Given the description of an element on the screen output the (x, y) to click on. 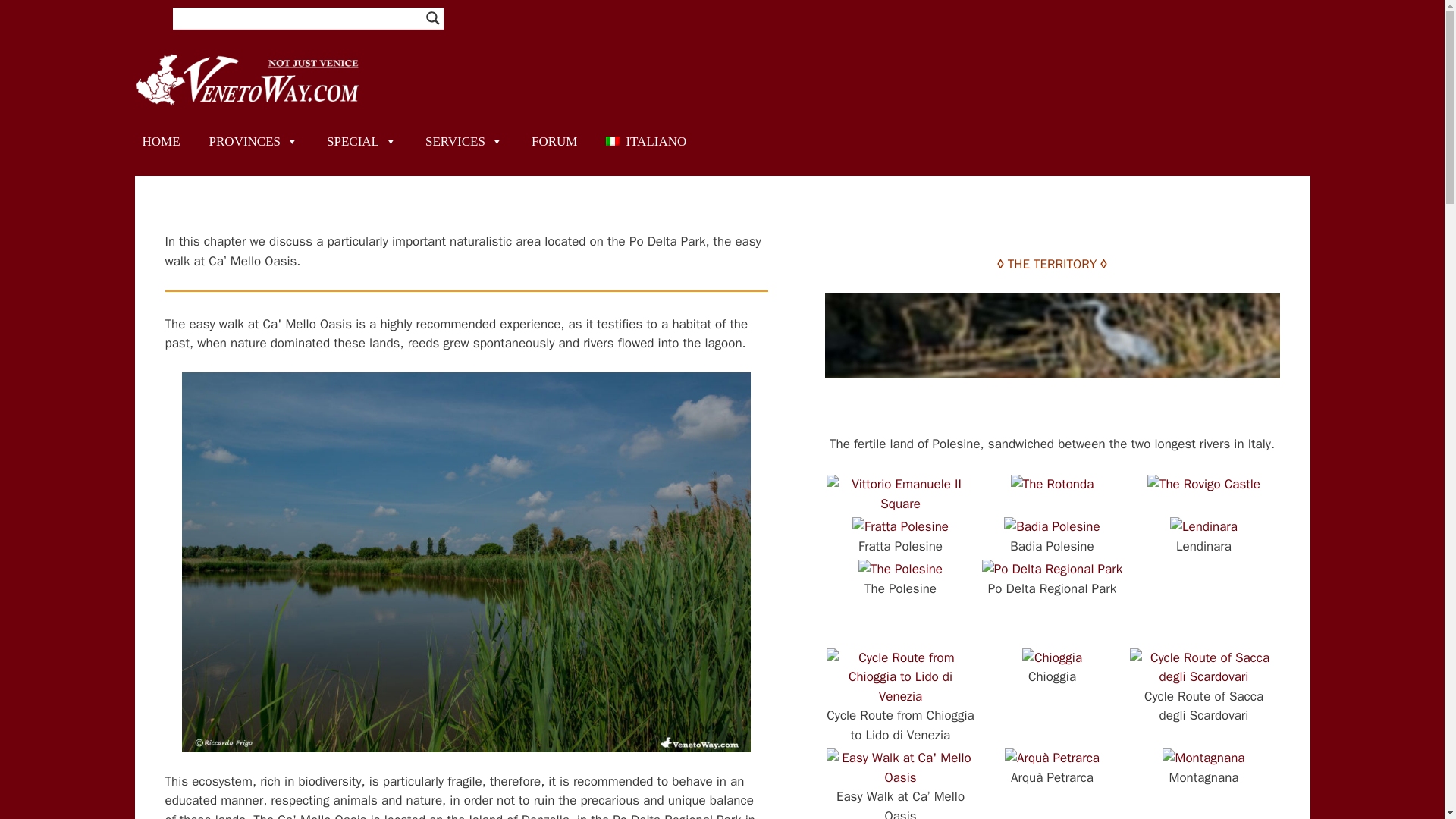
The Rovigo Province (1052, 353)
HOME (161, 141)
PROVINCES (253, 141)
VenetoWay.com (248, 79)
Italiano (646, 141)
VenetoWay.com (248, 78)
